Given the description of an element on the screen output the (x, y) to click on. 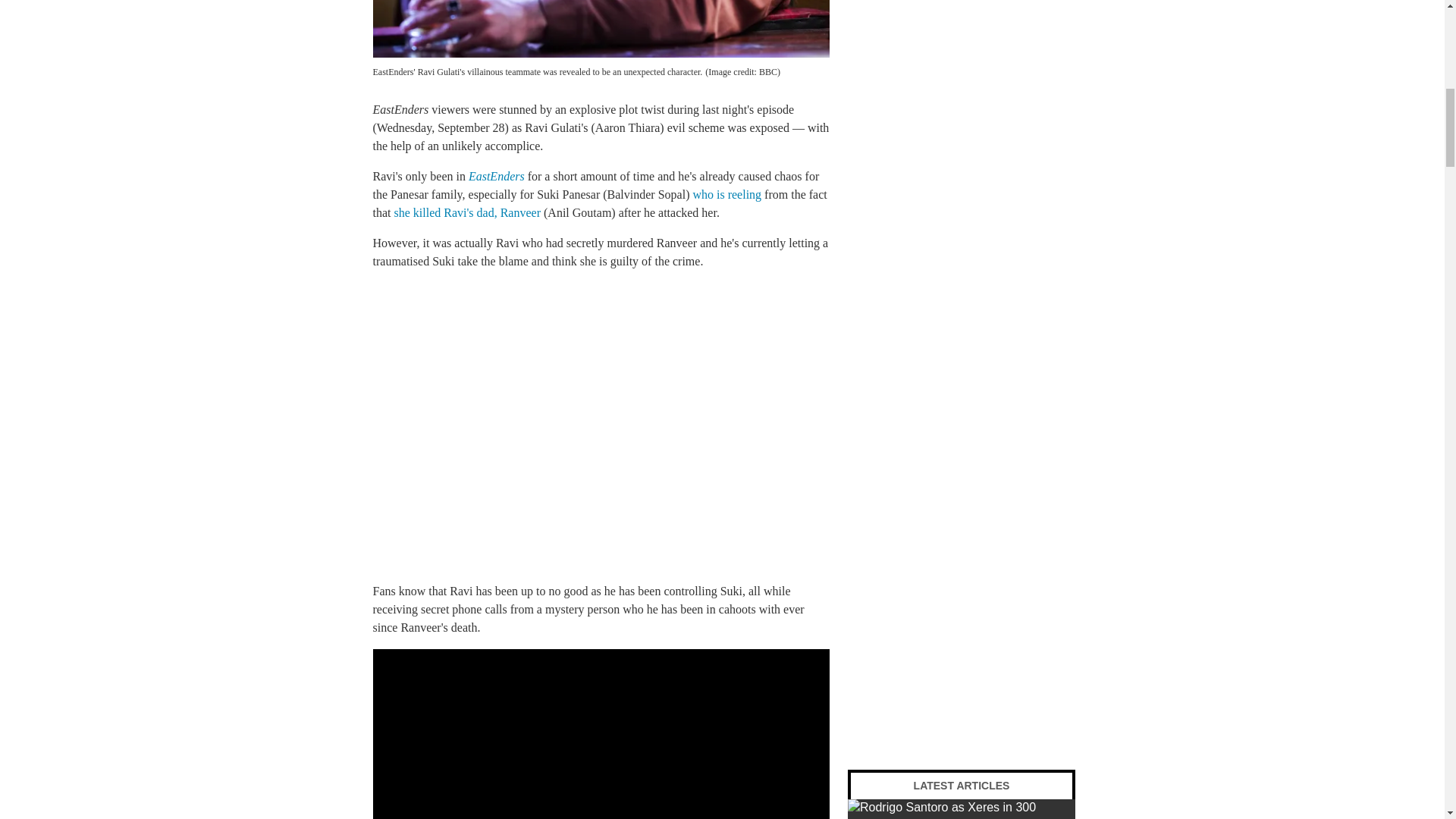
EastEnders (496, 175)
who is reeling (727, 194)
